Given the description of an element on the screen output the (x, y) to click on. 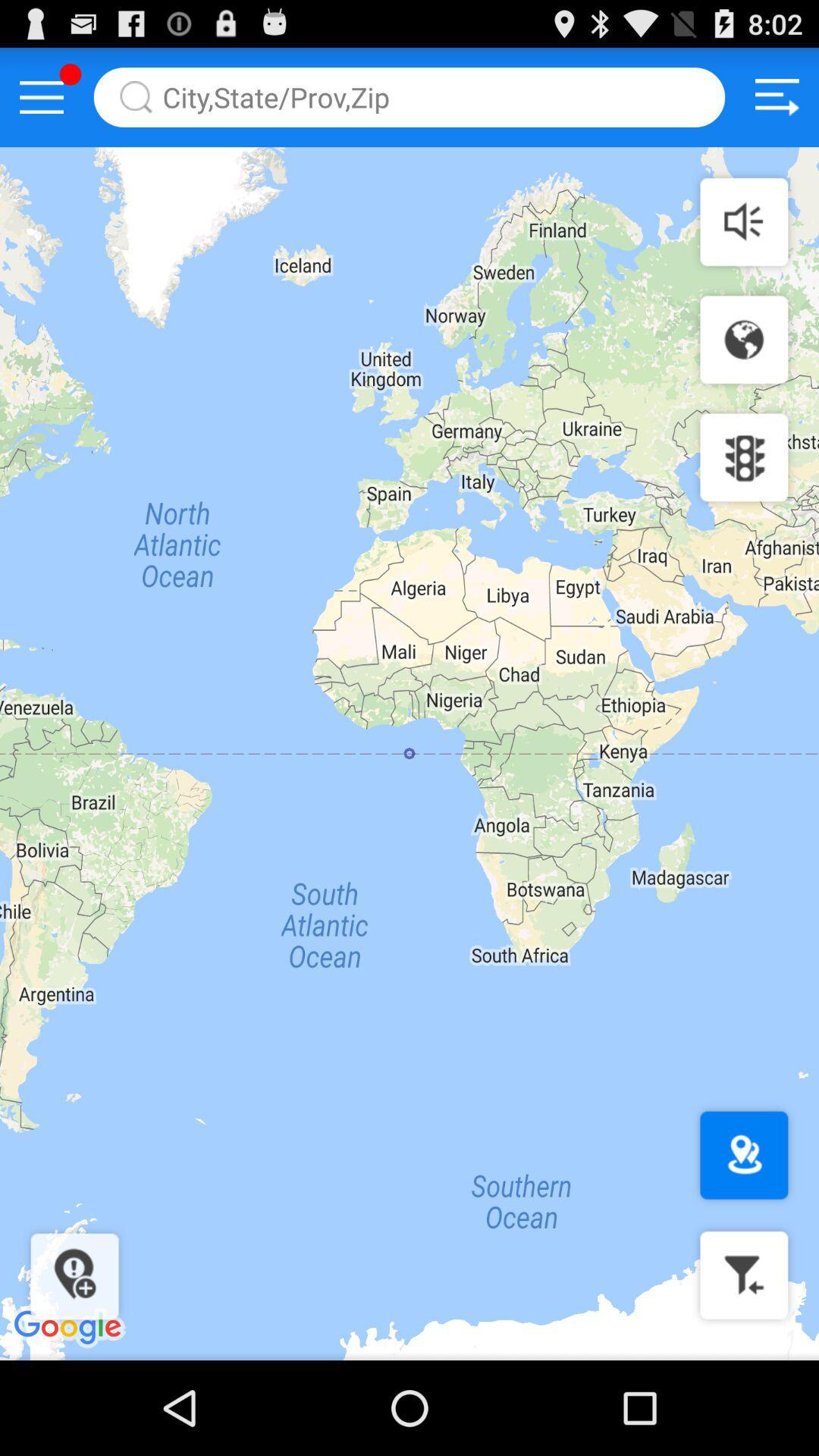
view places (744, 1155)
